Given the description of an element on the screen output the (x, y) to click on. 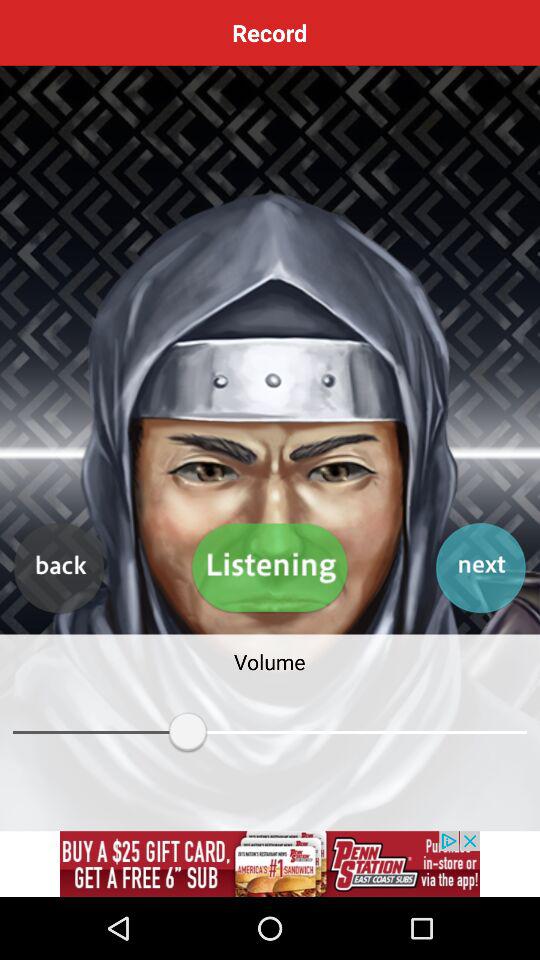
go to external advertisement page (270, 864)
